Given the description of an element on the screen output the (x, y) to click on. 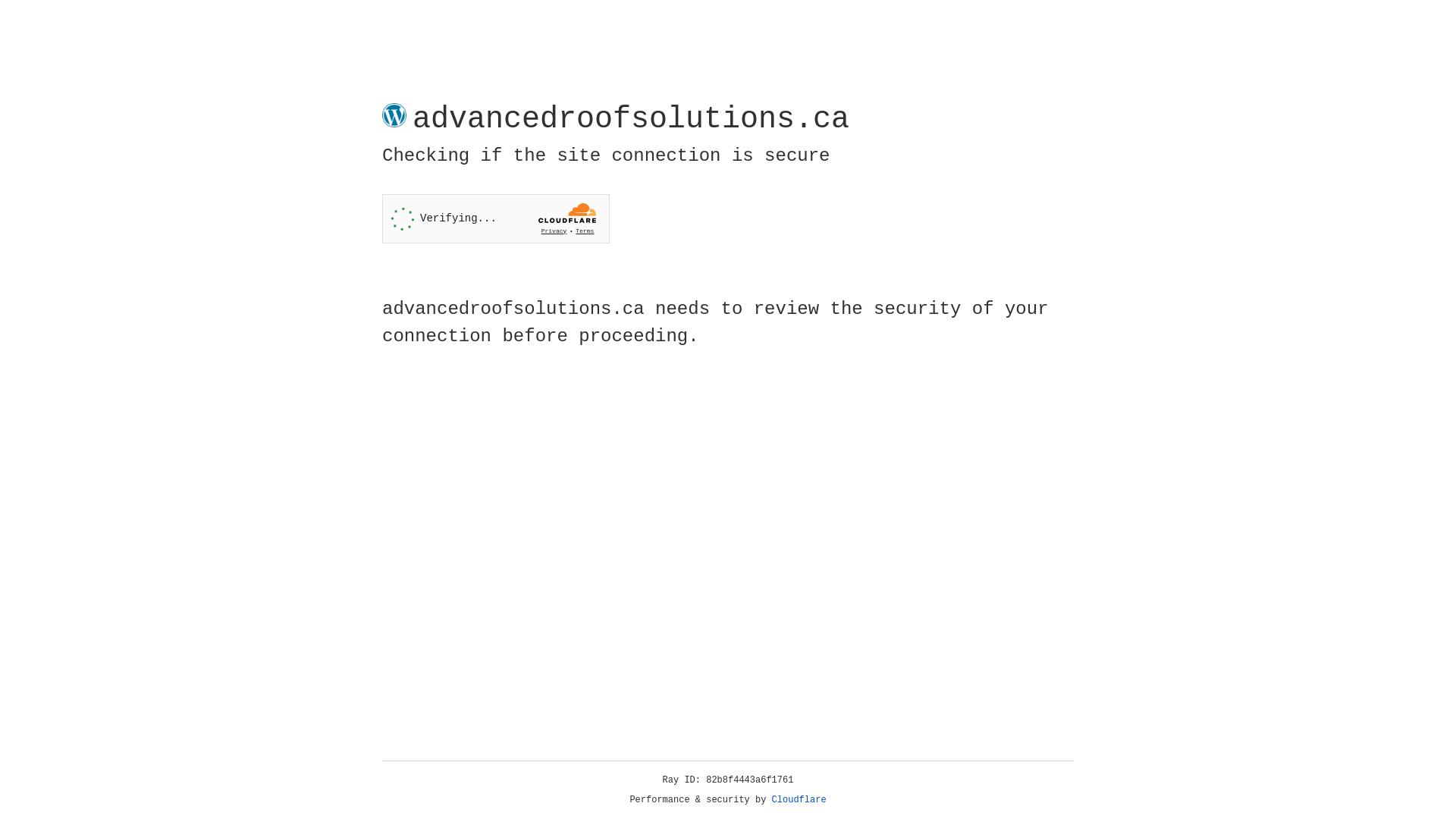
Cloudflare Element type: text (798, 799)
Widget containing a Cloudflare security challenge Element type: hover (495, 218)
